Given the description of an element on the screen output the (x, y) to click on. 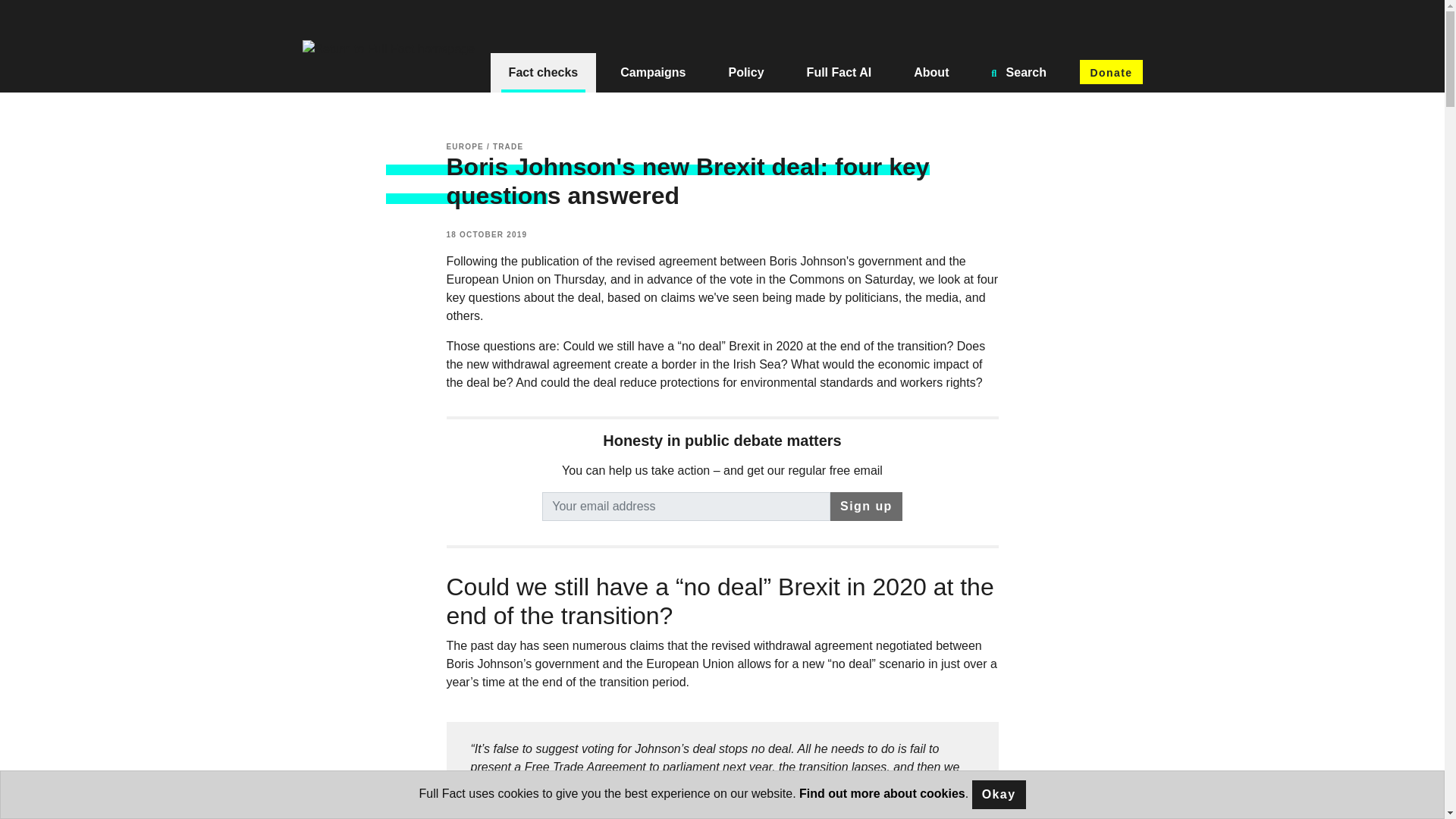
Donate (1110, 71)
Fact checks (543, 72)
Campaigns (652, 72)
About (930, 72)
Full Fact AI (839, 72)
Policy (745, 72)
